Given the description of an element on the screen output the (x, y) to click on. 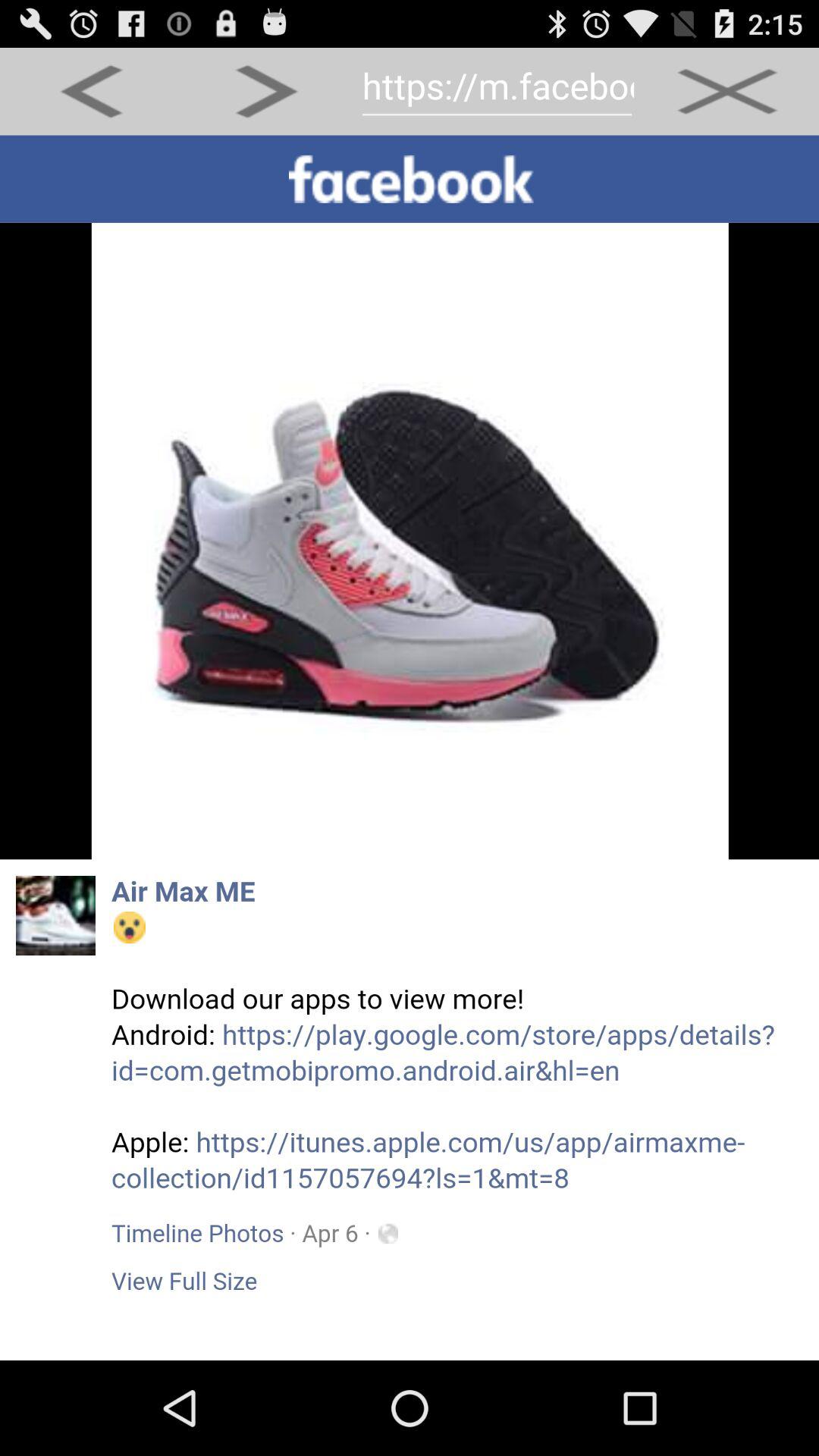
close the window (727, 91)
